Given the description of an element on the screen output the (x, y) to click on. 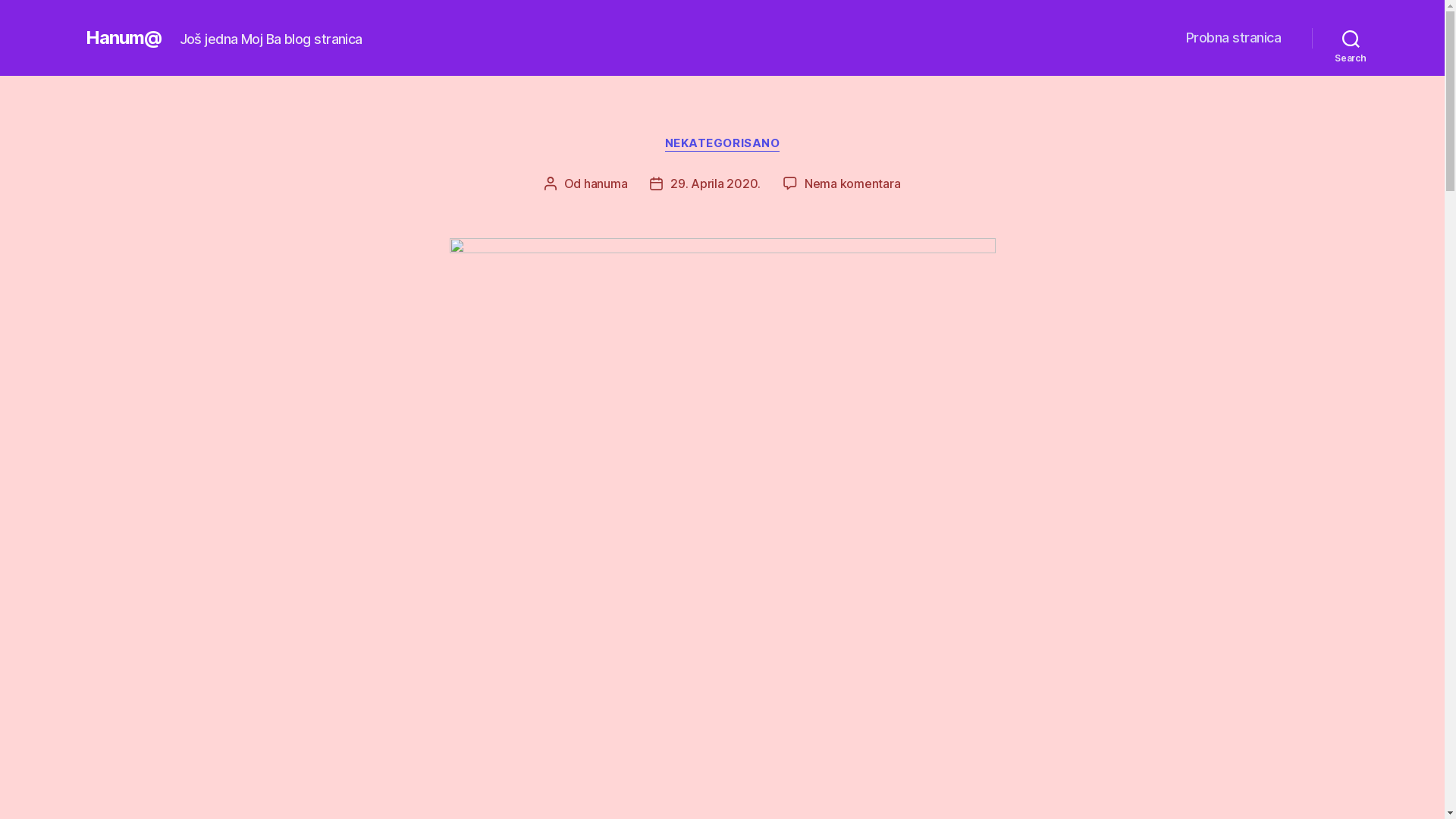
Hanum@ Element type: text (122, 37)
Search Element type: text (1350, 37)
Nema komentara
na Element type: text (852, 183)
hanuma Element type: text (605, 183)
NEKATEGORISANO Element type: text (722, 143)
29. Aprila 2020. Element type: text (715, 183)
Probna stranica Element type: text (1233, 37)
